Given the description of an element on the screen output the (x, y) to click on. 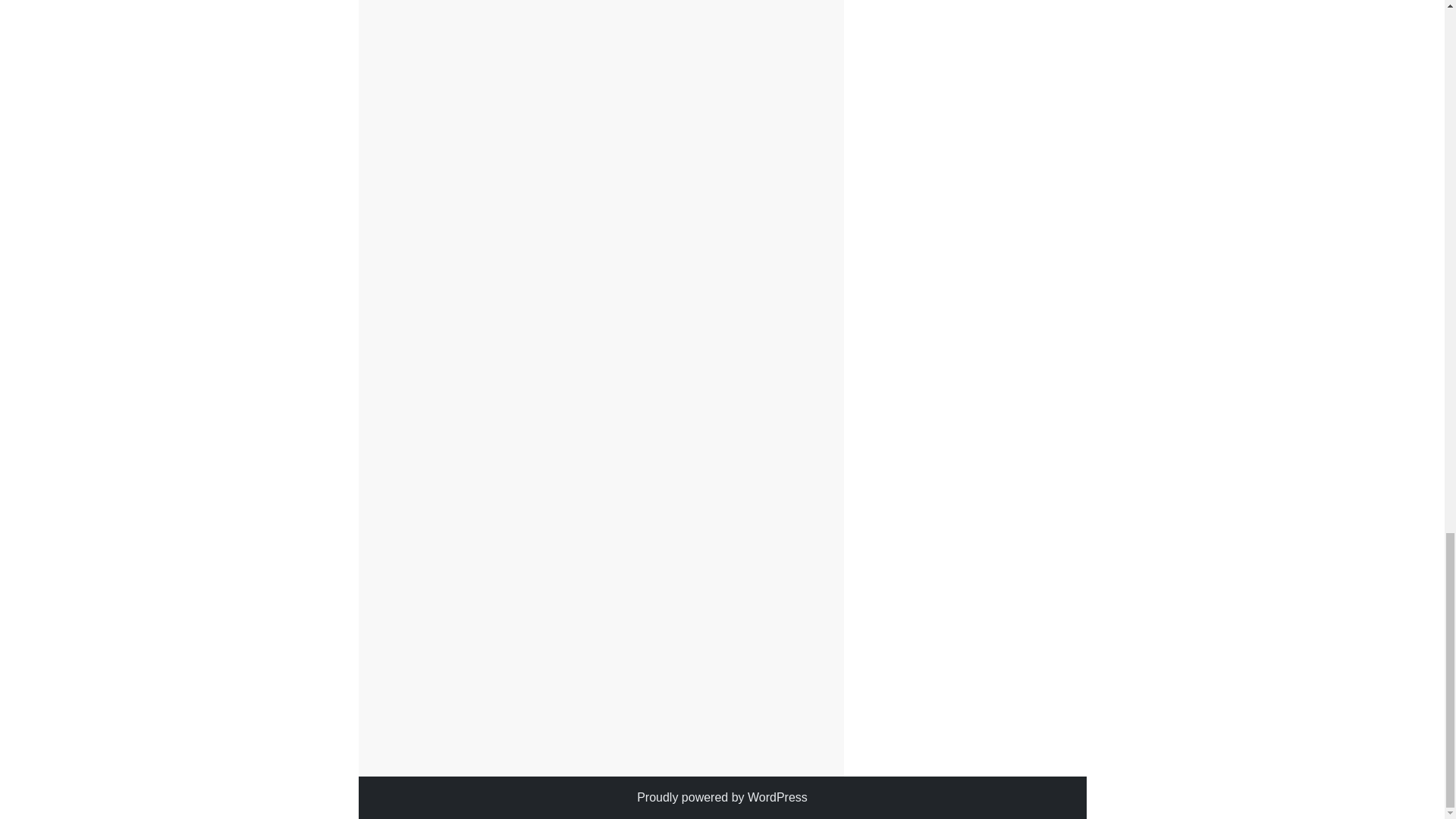
How to Find the Best Live Casino Online (738, 750)
Gambling (449, 716)
What Payment Methods Are Available at Online Lottery Sites? (496, 750)
